Given the description of an element on the screen output the (x, y) to click on. 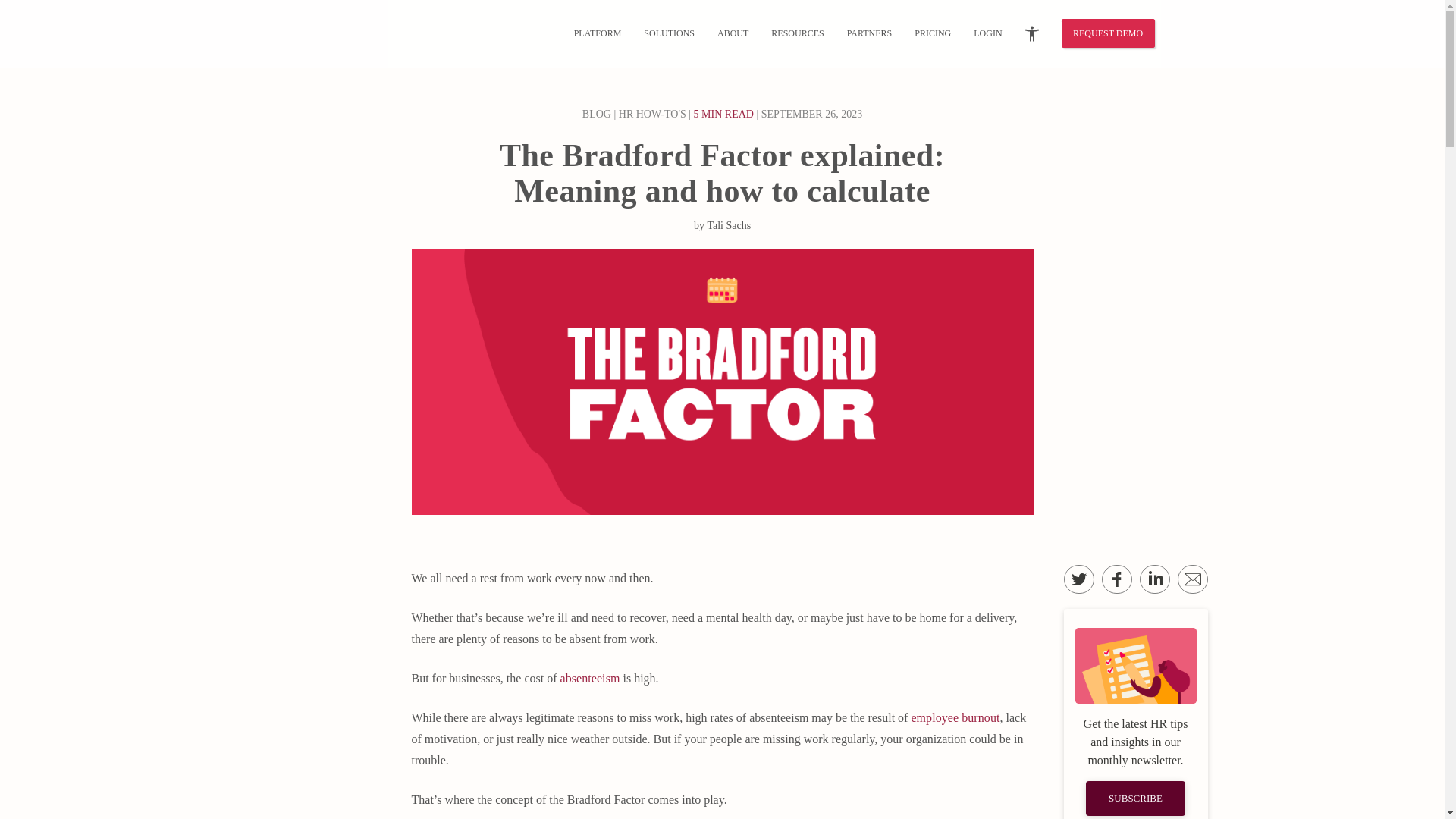
Facebook (1115, 579)
SOLUTIONS (668, 33)
RESOURCES (797, 33)
Share by Email (1191, 579)
LinkedIn (1153, 579)
ABOUT (733, 33)
PLATFORM (597, 33)
Twitter (1077, 579)
